Given the description of an element on the screen output the (x, y) to click on. 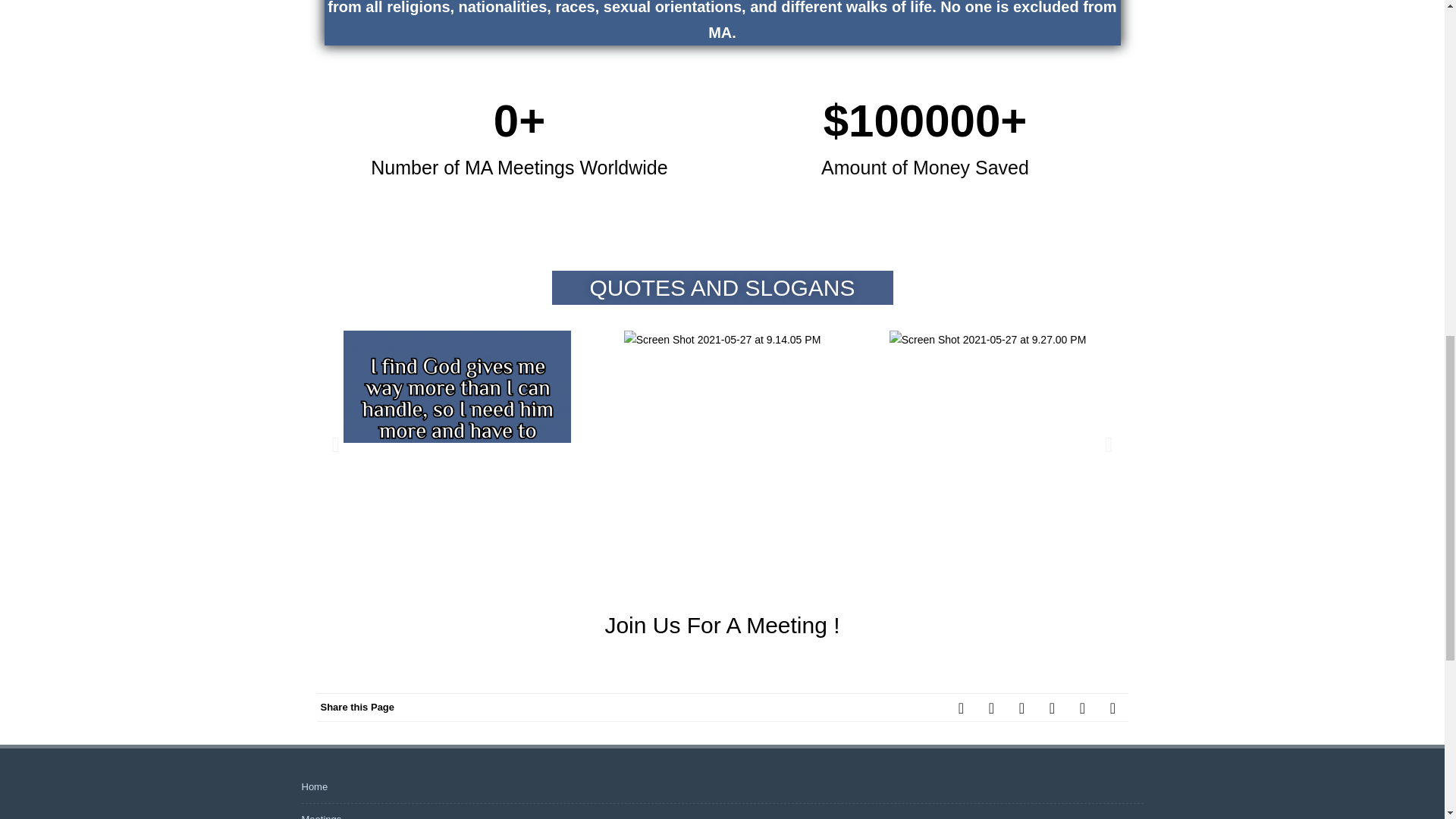
Pinterest (1021, 707)
Twitter (991, 707)
Instagram (1082, 707)
Facebook (961, 707)
LinkedIn (1051, 707)
Email (1112, 707)
